Given the description of an element on the screen output the (x, y) to click on. 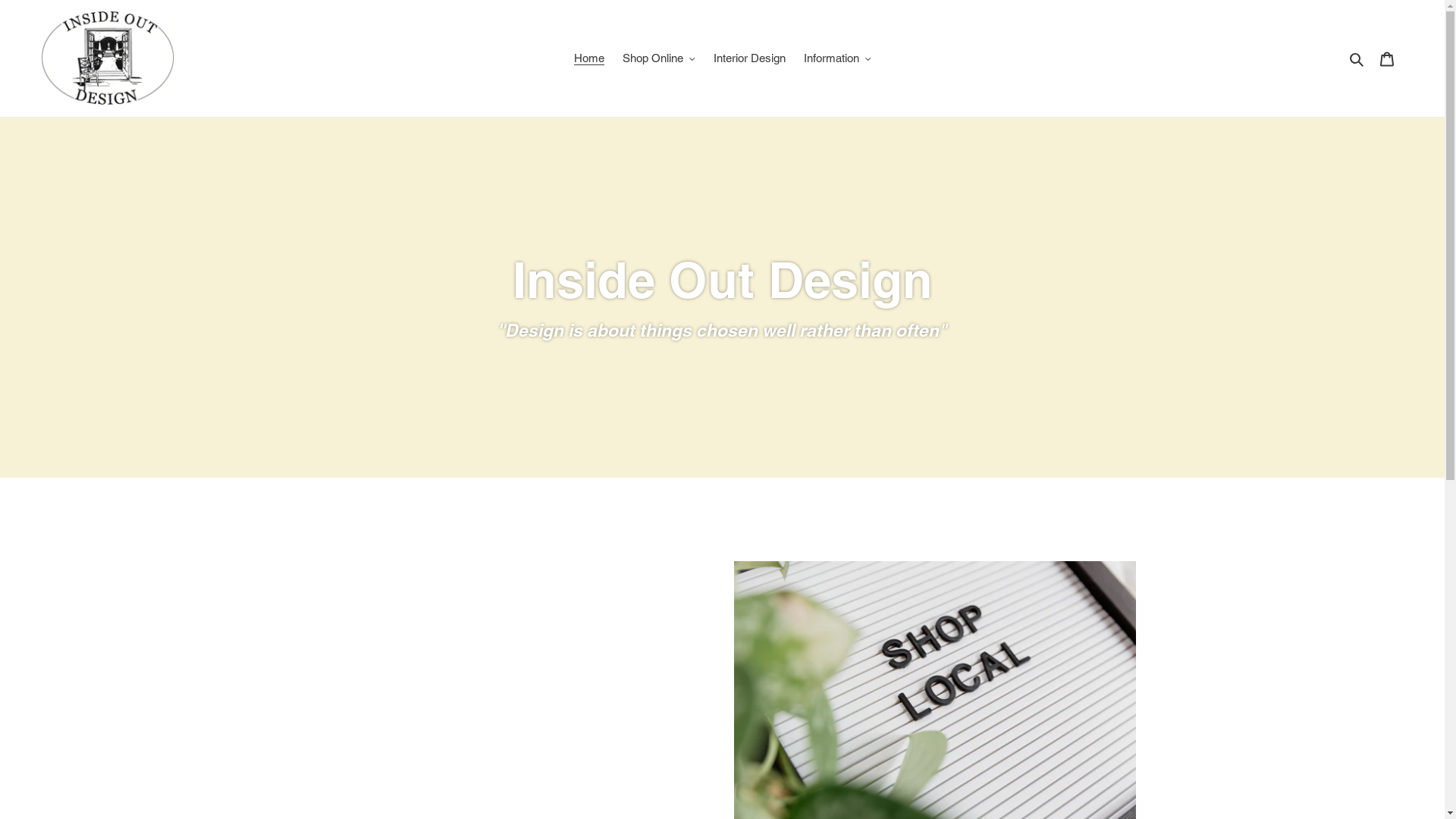
Home Element type: text (588, 58)
Cart Element type: text (1386, 58)
Shop Online Element type: text (658, 58)
Search Element type: text (1357, 58)
Information Element type: text (837, 58)
Interior Design Element type: text (748, 58)
